Given the description of an element on the screen output the (x, y) to click on. 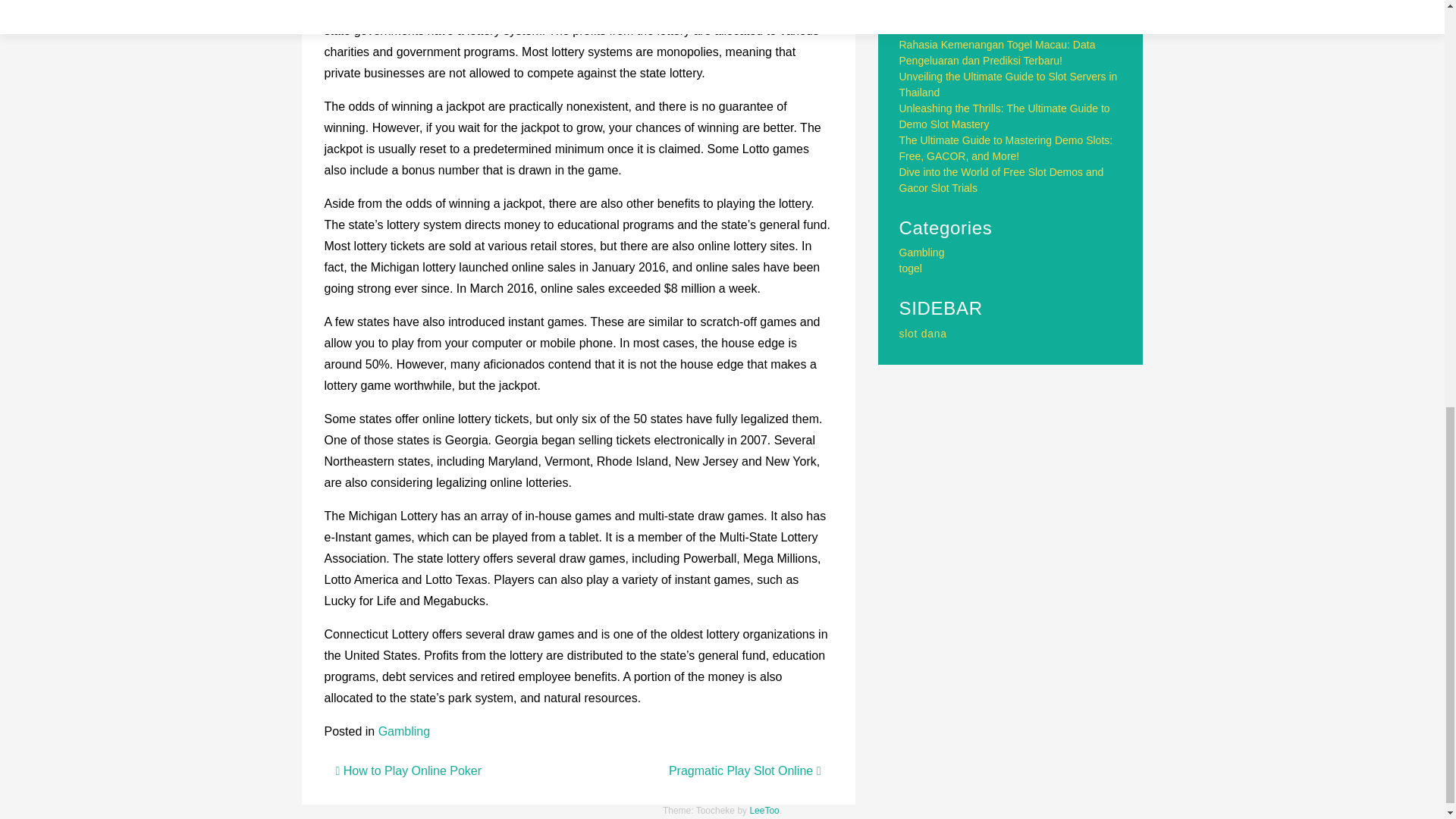
Unveiling the Ultimate Guide to Slot Servers in Thailand (1008, 84)
togel (910, 268)
 How to Play Online Poker (407, 770)
Dive into the World of Free Slot Demos and Gacor Slot Trials (1001, 180)
Gambling (921, 252)
Pragmatic Play Slot Online  (744, 770)
Gambling (403, 730)
